Given the description of an element on the screen output the (x, y) to click on. 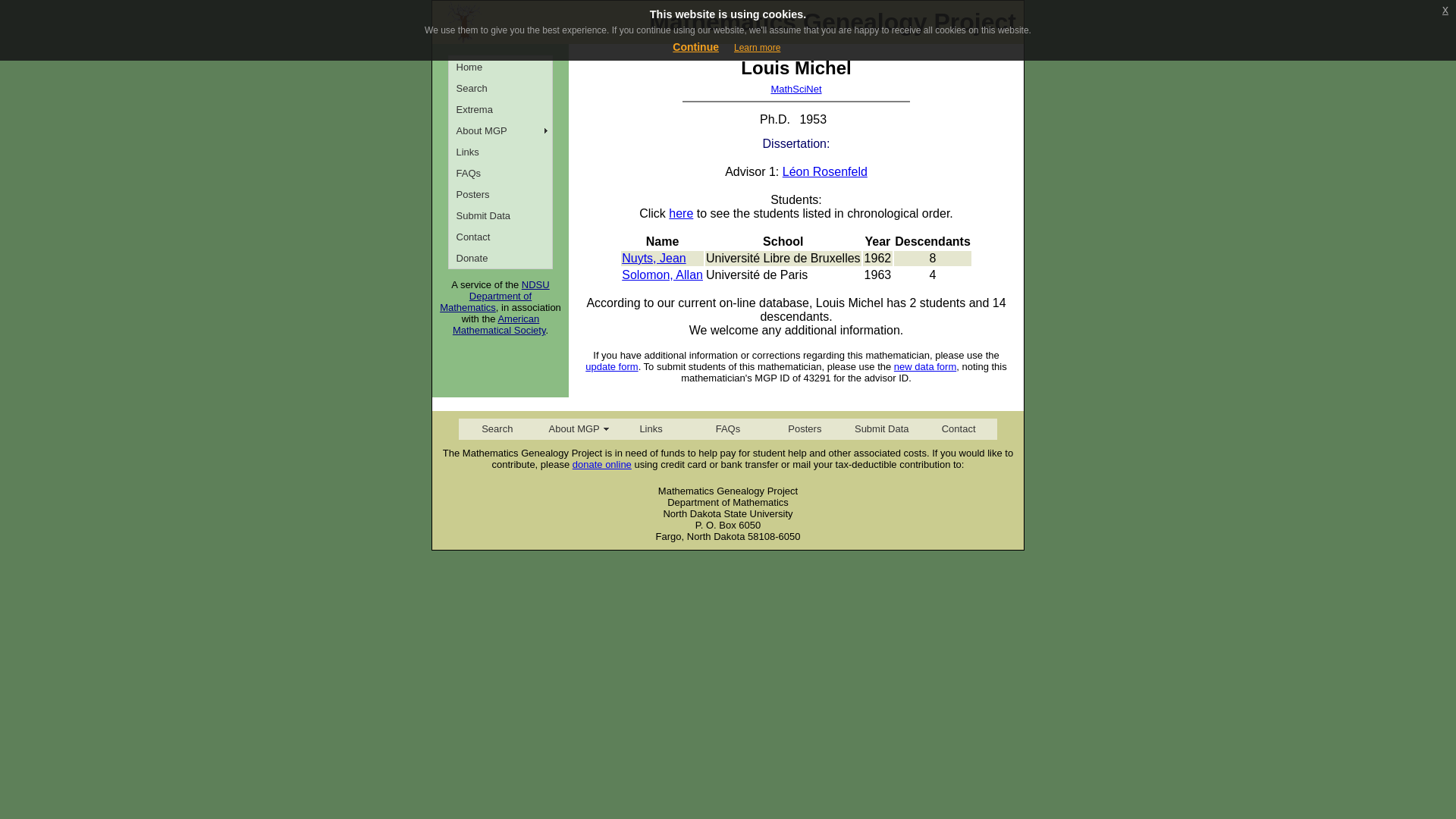
Frequently Asked Questions (726, 428)
Solomon, Allan (662, 274)
FAQs (726, 428)
About MGP (500, 129)
Frequently Asked Questions (500, 172)
Extrema (500, 108)
here (680, 213)
Home (500, 66)
About MGP (573, 428)
update form (611, 366)
